Given the description of an element on the screen output the (x, y) to click on. 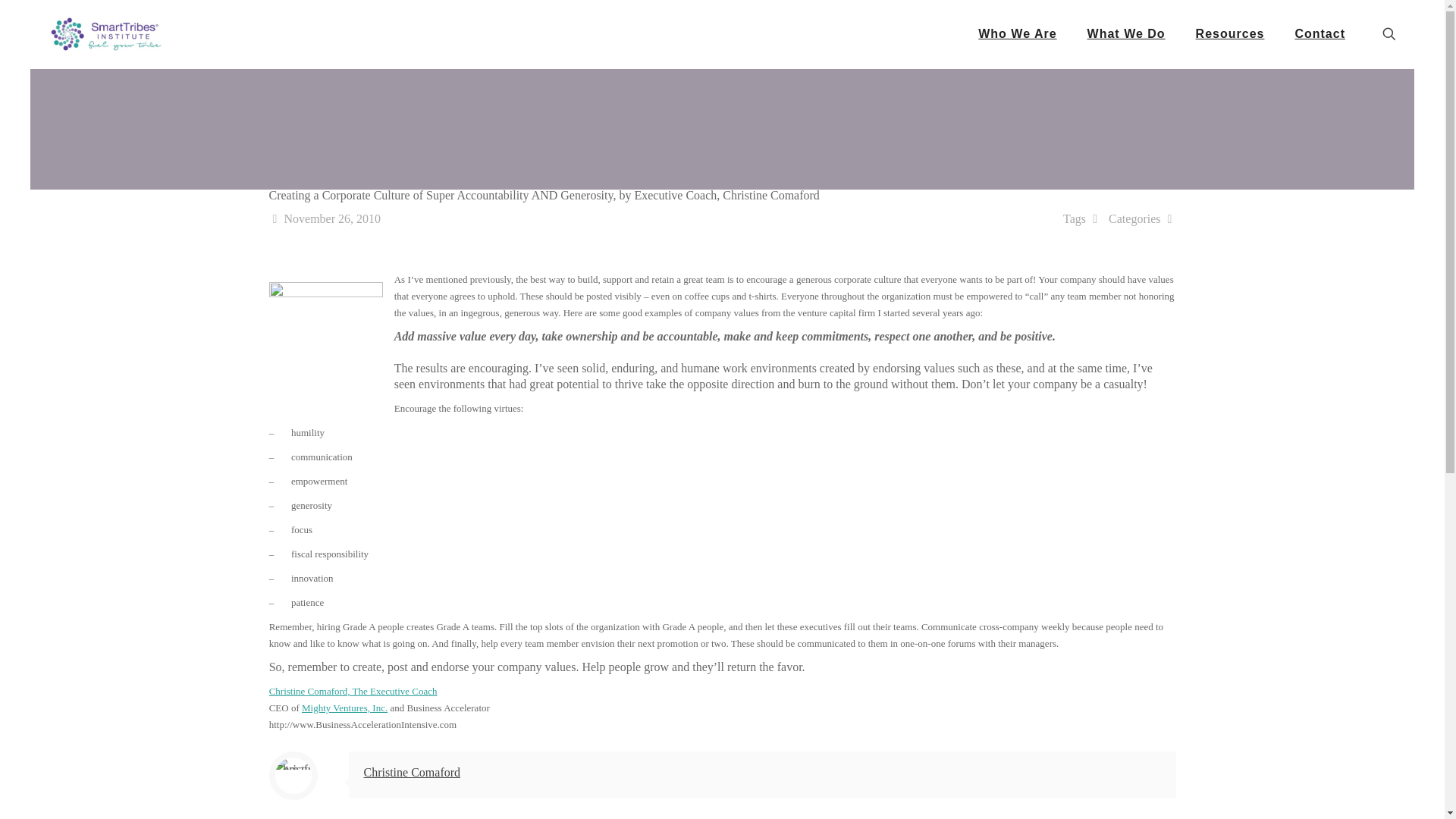
What We Do (1125, 33)
Who We Are (1016, 33)
The Group! (325, 338)
Resources (1229, 33)
SmartTribes Institute (106, 33)
